Given the description of an element on the screen output the (x, y) to click on. 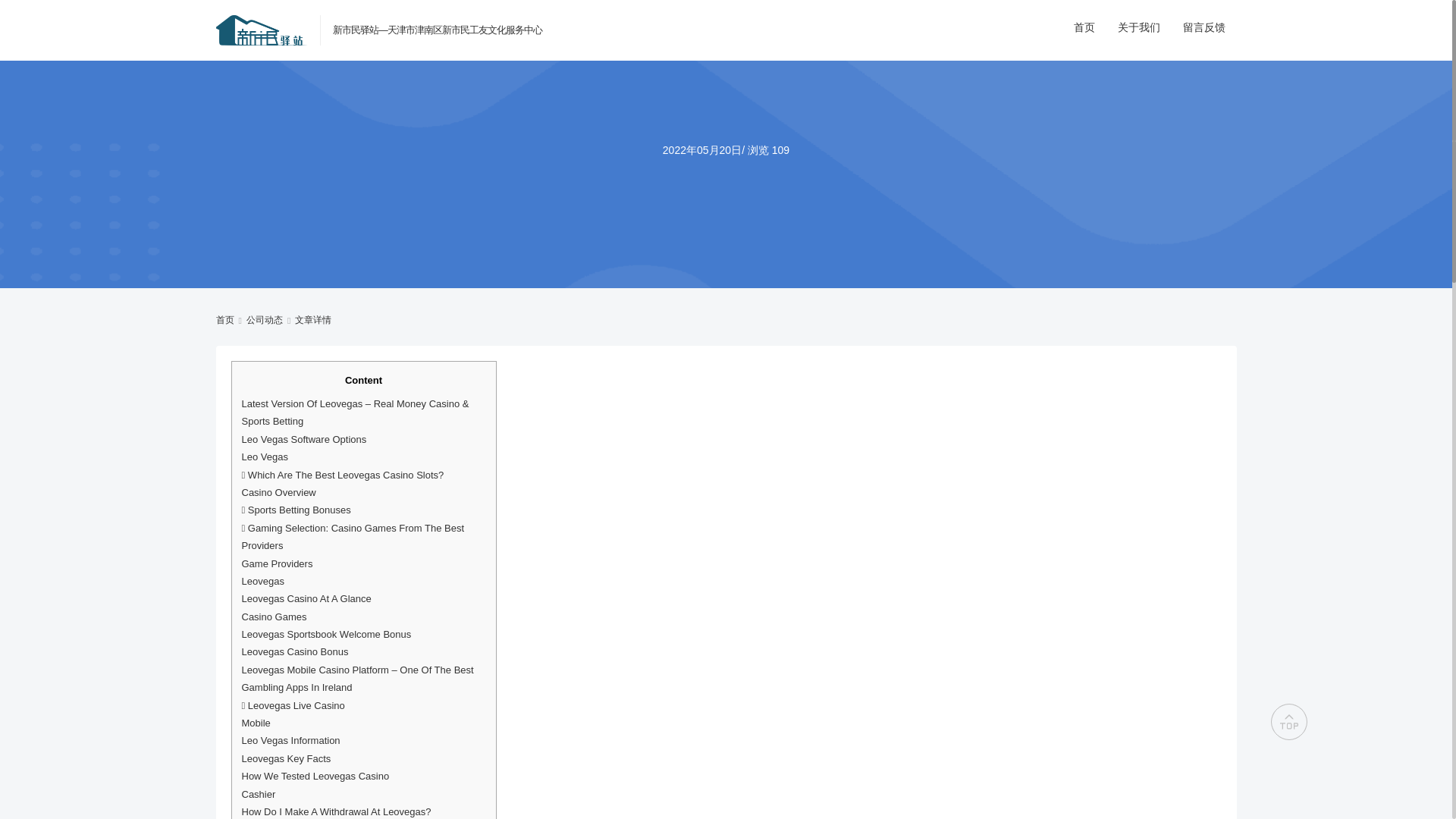
Game Providers (277, 563)
Mobile (255, 722)
How Do I Make A Withdrawal At Leovegas? (335, 811)
Leovegas Key Facts (285, 758)
Leo Vegas (263, 456)
Casino Overview (278, 491)
Leo Vegas Information (290, 740)
Casino Games (273, 616)
Leovegas Casino Bonus (294, 651)
Cashier (258, 794)
